Given the description of an element on the screen output the (x, y) to click on. 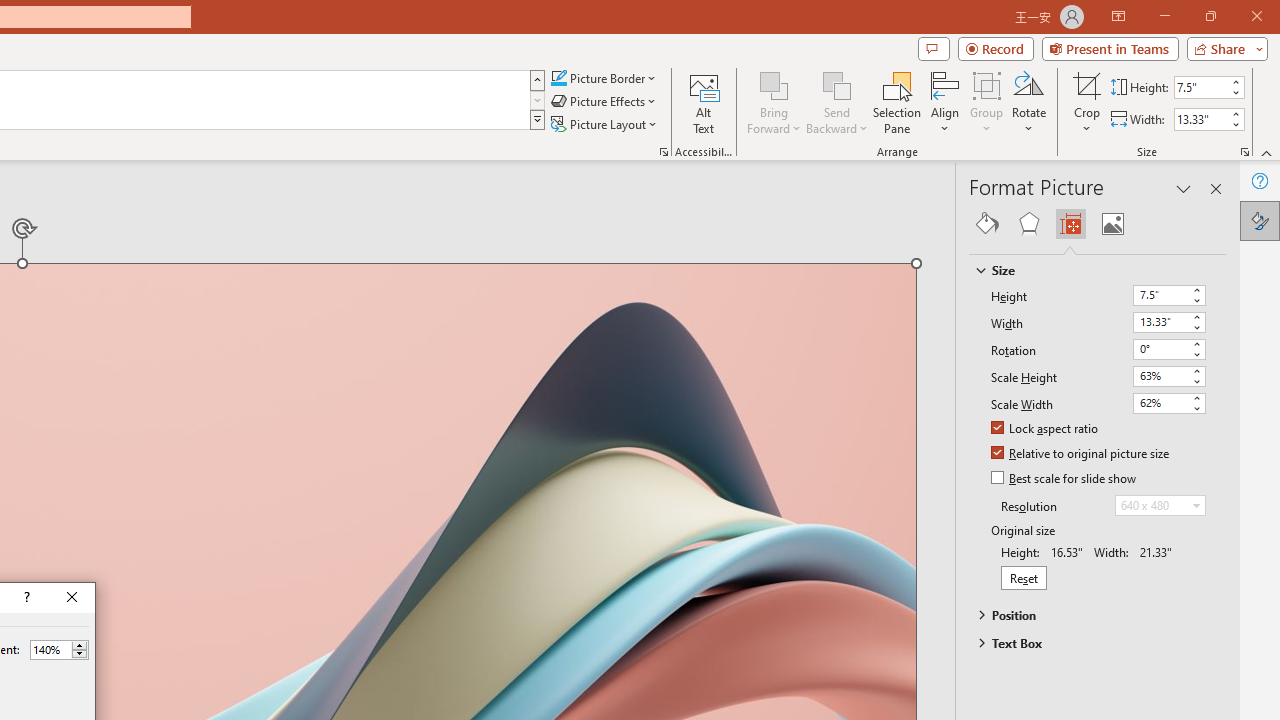
Size & Properties (1070, 223)
Relative to original picture size (1081, 453)
Scale Height (1168, 376)
Best scale for slide show (1065, 479)
Bring Forward (773, 84)
Width (1160, 322)
Align (945, 102)
Scale Width (1168, 403)
Picture... (663, 151)
Percent (50, 649)
